Given the description of an element on the screen output the (x, y) to click on. 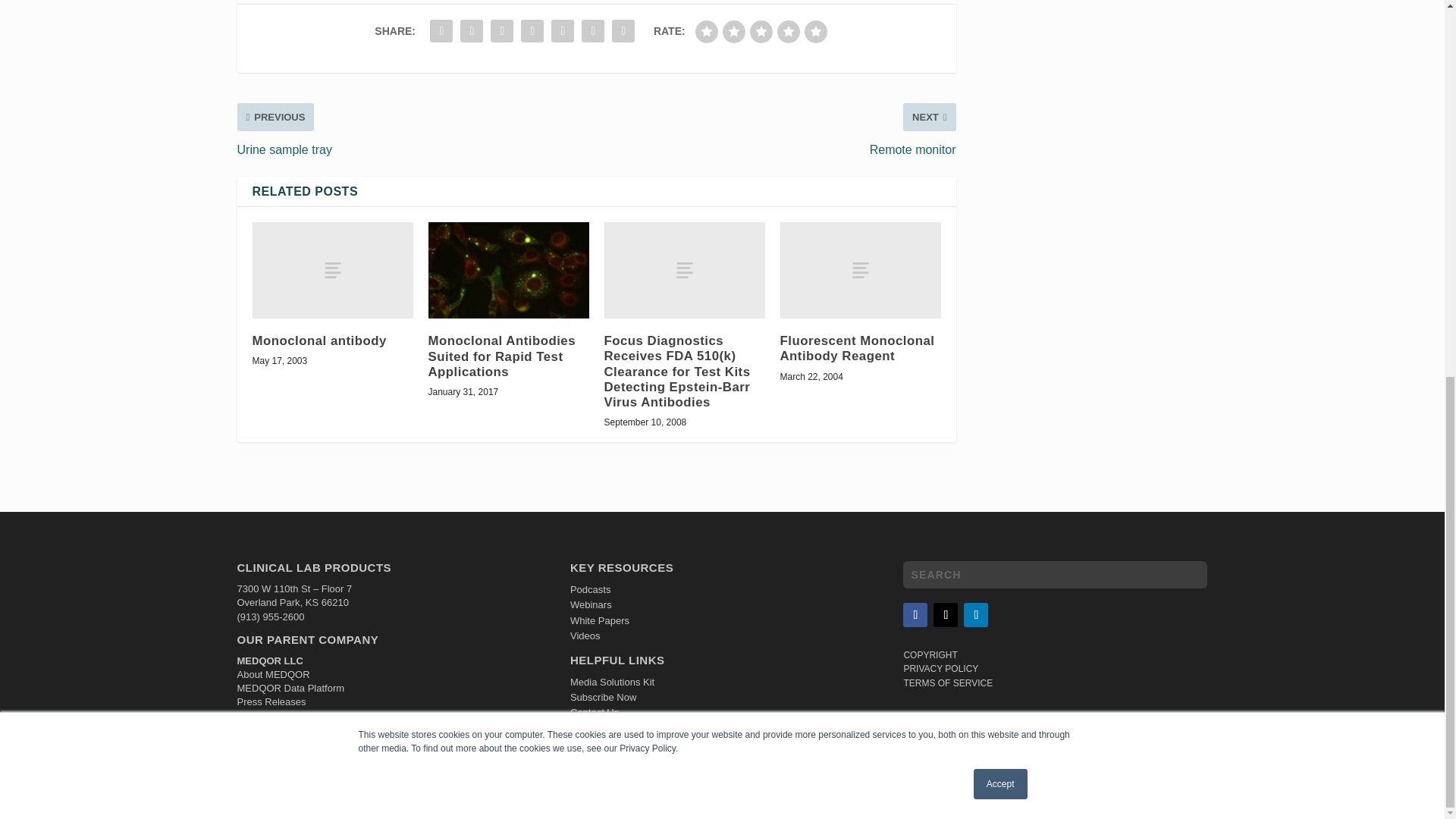
bad (706, 31)
Accept (1000, 90)
Share "BCL-10 antibody" via LinkedIn (531, 30)
gorgeous (816, 31)
regular (761, 31)
Monoclonal Antibodies Suited for Rapid Test Applications (508, 269)
Monoclonal antibody (331, 269)
Share "BCL-10 antibody" via Pinterest (501, 30)
Share "BCL-10 antibody" via Facebook (441, 30)
poor (733, 31)
Share "BCL-10 antibody" via Print (623, 30)
Share "BCL-10 antibody" via Twitter (471, 30)
Share "BCL-10 antibody" via Buffer (562, 30)
good (788, 31)
Share "BCL-10 antibody" via Email (593, 30)
